Given the description of an element on the screen output the (x, y) to click on. 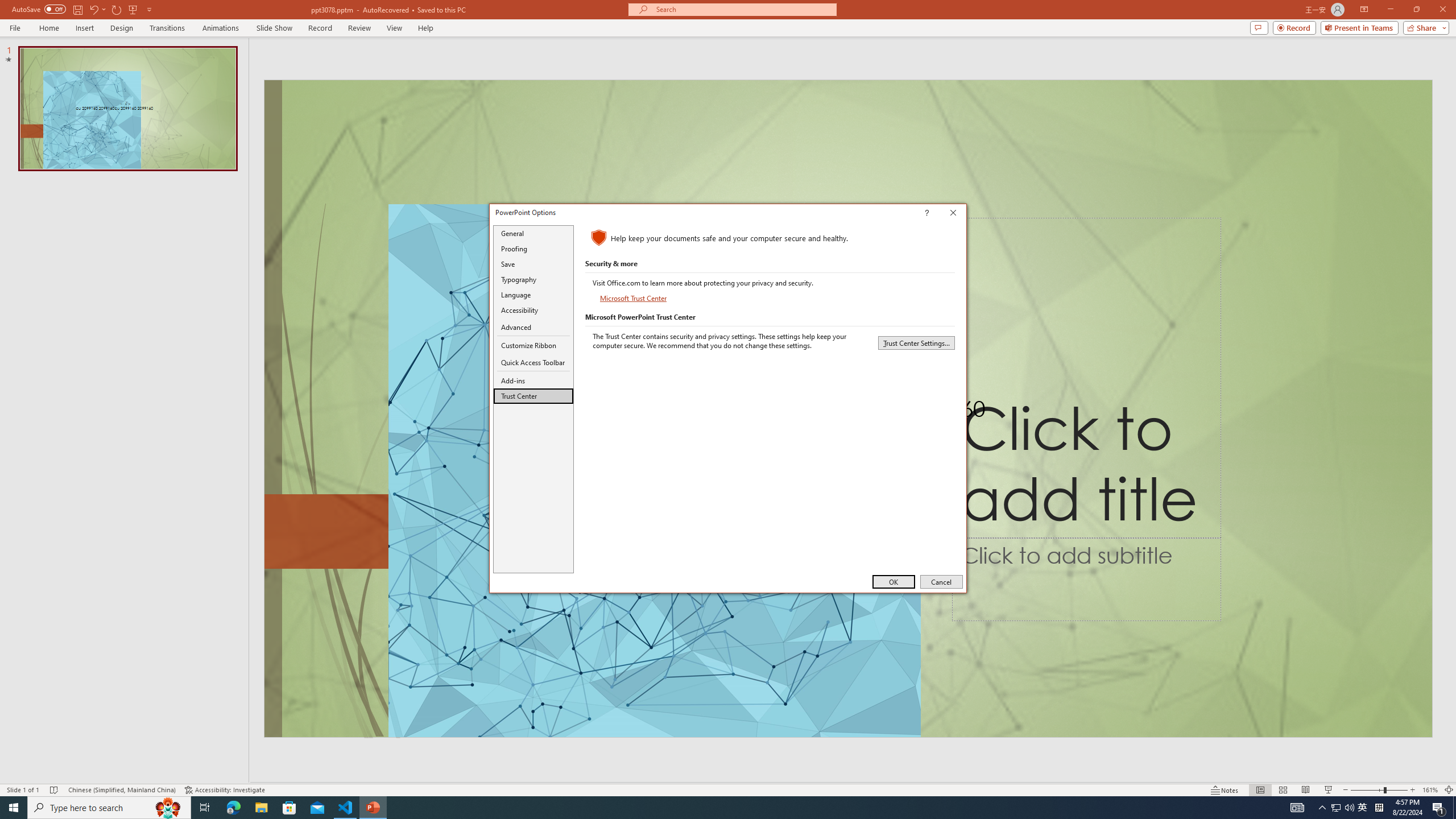
Language (533, 294)
